Given the description of an element on the screen output the (x, y) to click on. 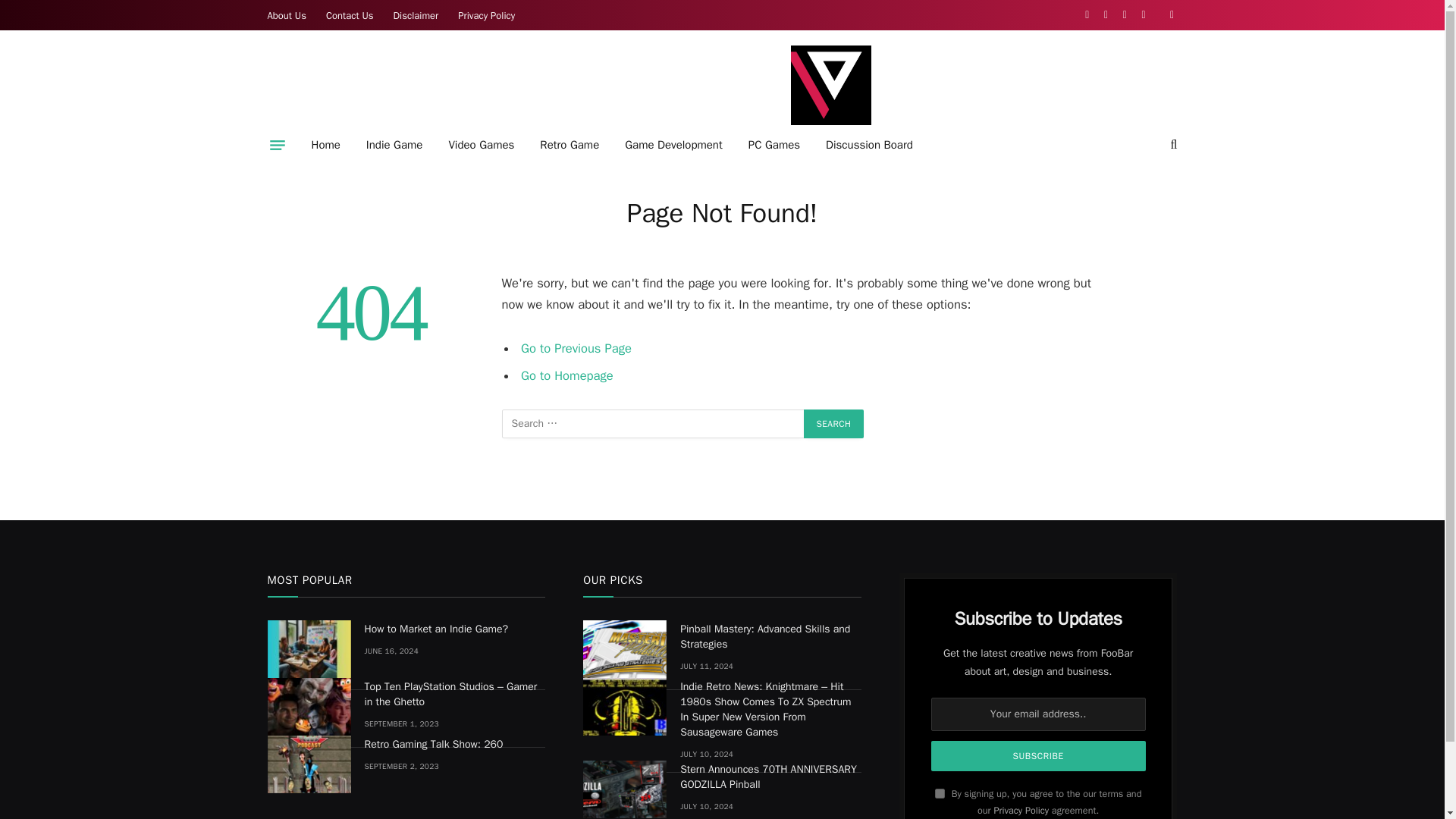
on (939, 793)
Privacy Policy (486, 15)
Home (325, 144)
About Us (286, 15)
Retro Game (569, 144)
Go to Previous Page (576, 348)
Indie Game (394, 144)
Discussion Board (869, 144)
Subscribe (1038, 756)
Stern Announces 70TH ANNIVERSARY GODZILLA Pinball (624, 789)
Pinball Mastery: Advanced Skills and Strategies (624, 648)
Indie Devchronicles (830, 84)
PC Games (773, 144)
Retro Gaming Talk Show: 260 (308, 764)
Search (833, 423)
